Given the description of an element on the screen output the (x, y) to click on. 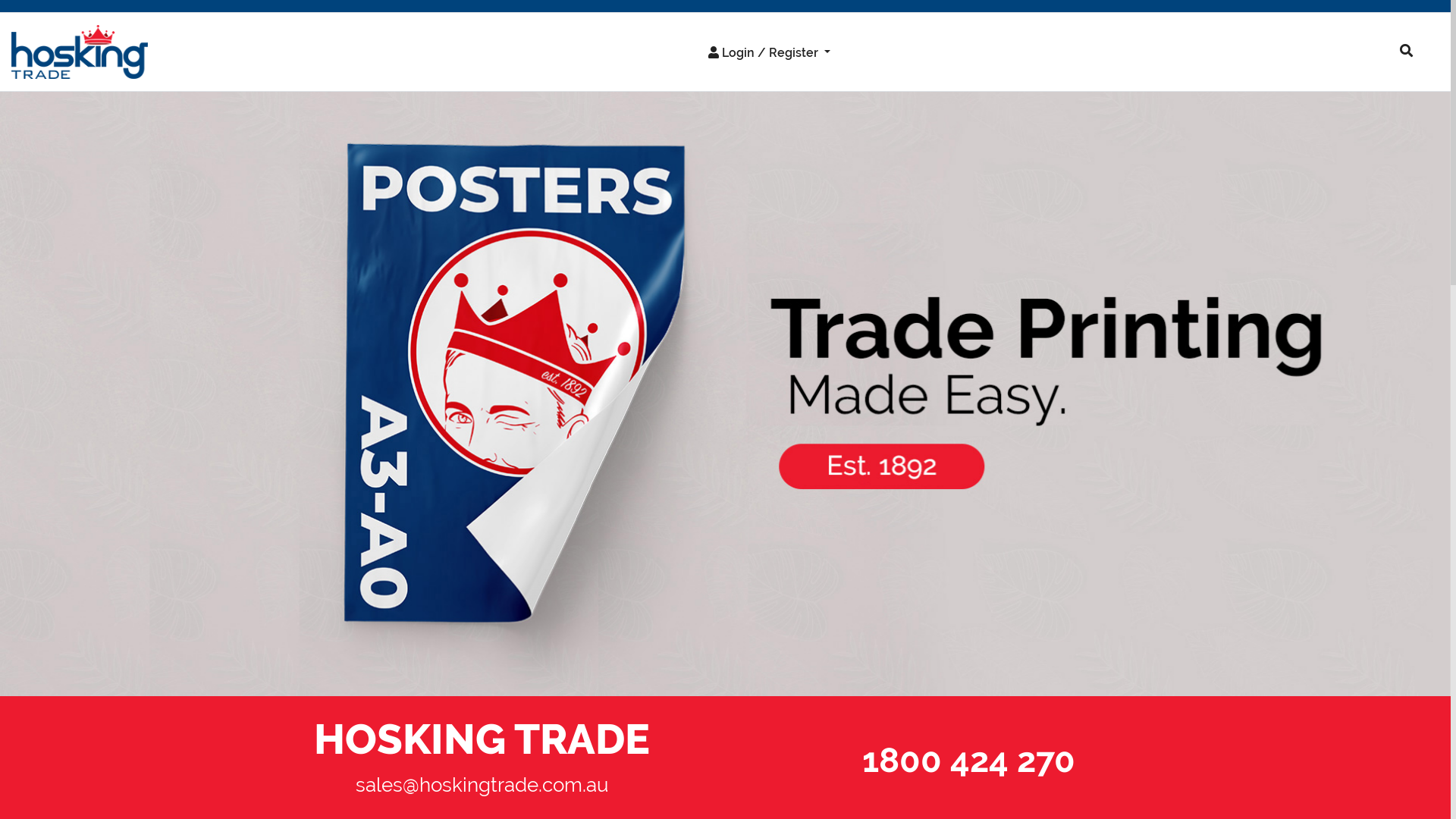
Hosking Trade Element type: hover (725, 393)
sales@hoskingtrade.com.au Element type: text (481, 784)
<i class='fal fa-unlock pr-1'></i> Login Element type: text (746, 84)
Login / Register Element type: text (769, 52)
